Given the description of an element on the screen output the (x, y) to click on. 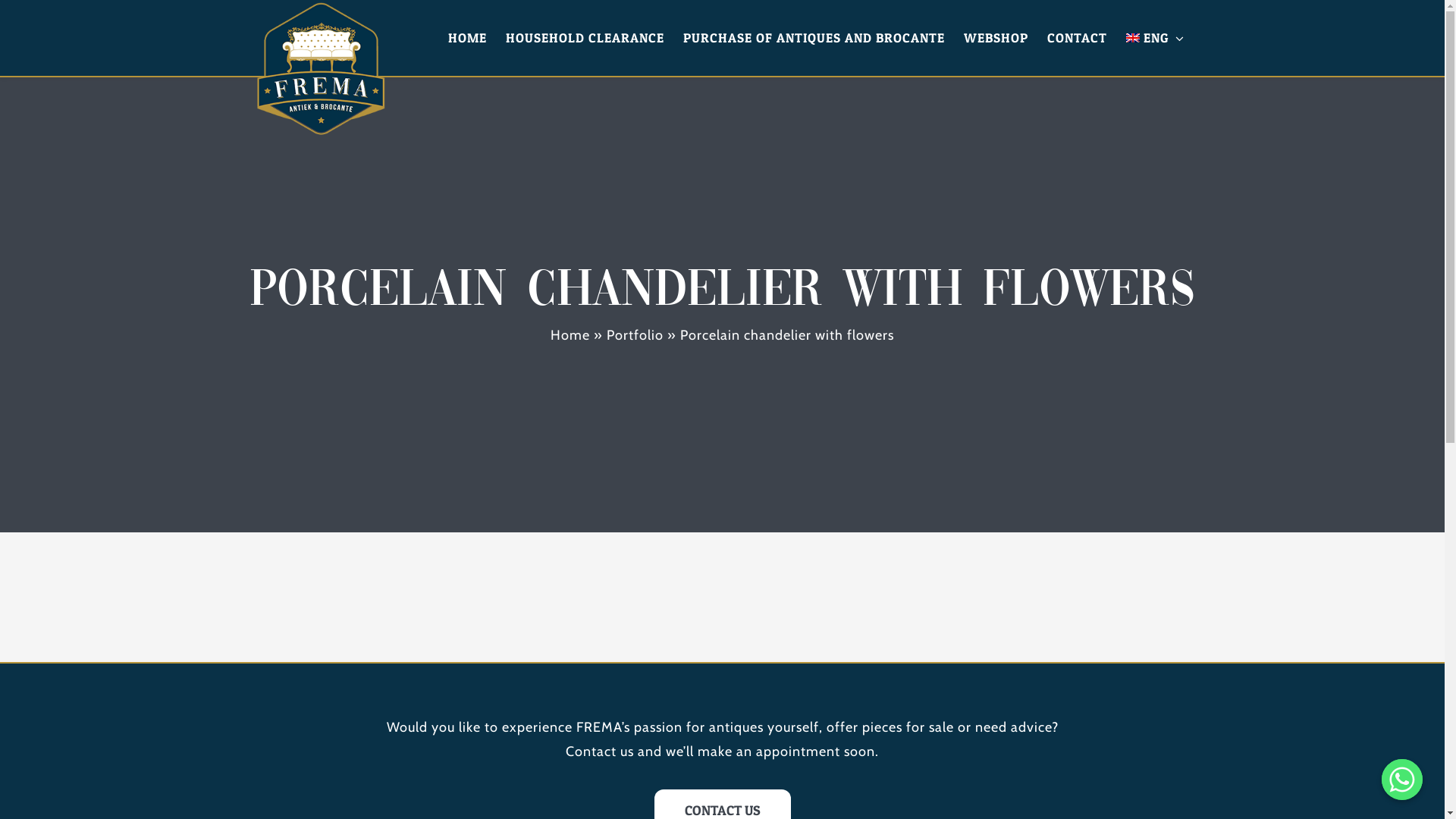
Portfolio Element type: text (634, 334)
ENG Element type: text (1155, 37)
WEBSHOP Element type: text (995, 37)
Home Element type: text (569, 334)
HOME Element type: text (467, 37)
CONTACT Element type: text (1076, 37)
PURCHASE OF ANTIQUES AND BROCANTE Element type: text (813, 37)
HOUSEHOLD CLEARANCE Element type: text (584, 37)
